Given the description of an element on the screen output the (x, y) to click on. 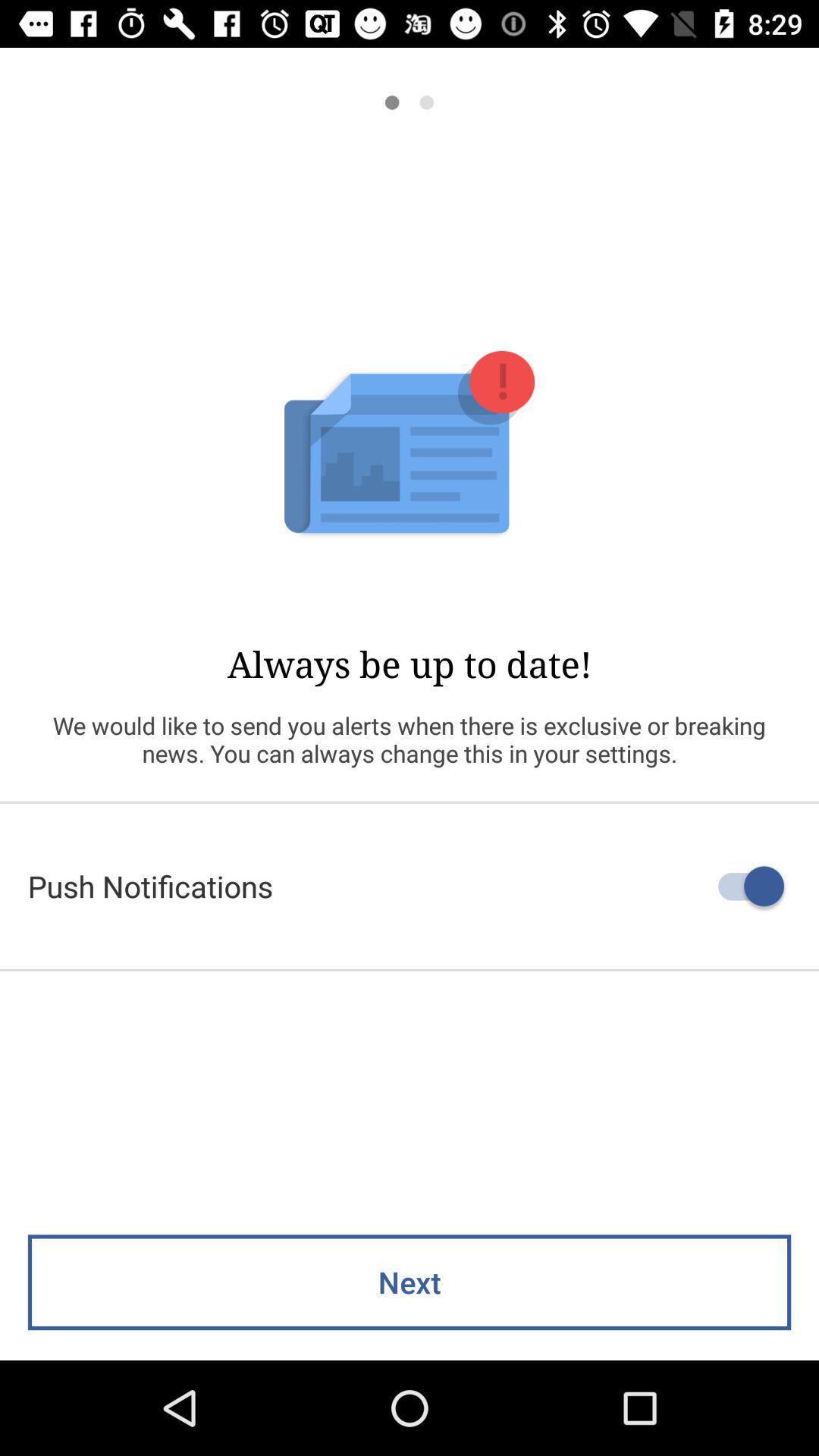
scroll until the push notifications item (409, 886)
